Given the description of an element on the screen output the (x, y) to click on. 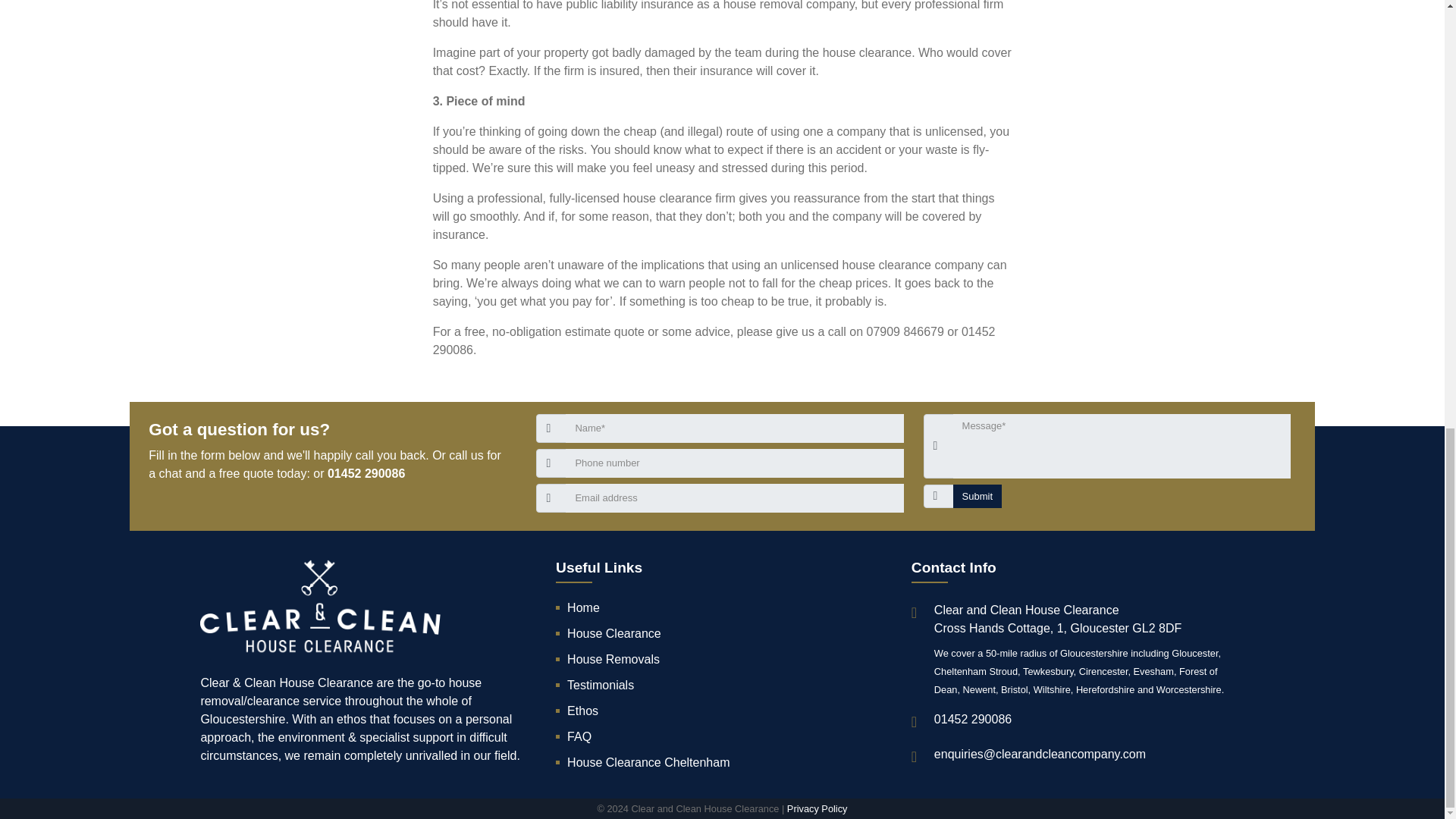
Cross Hands Cottage, 1, Gloucester GL2 8DF (1057, 627)
Testimonials (719, 685)
House Removals (719, 659)
01452 290086 (365, 472)
Ethos (719, 710)
Privacy Policy (817, 808)
Submit (977, 496)
Home (719, 607)
FAQ (719, 736)
House Clearance (719, 633)
